Given the description of an element on the screen output the (x, y) to click on. 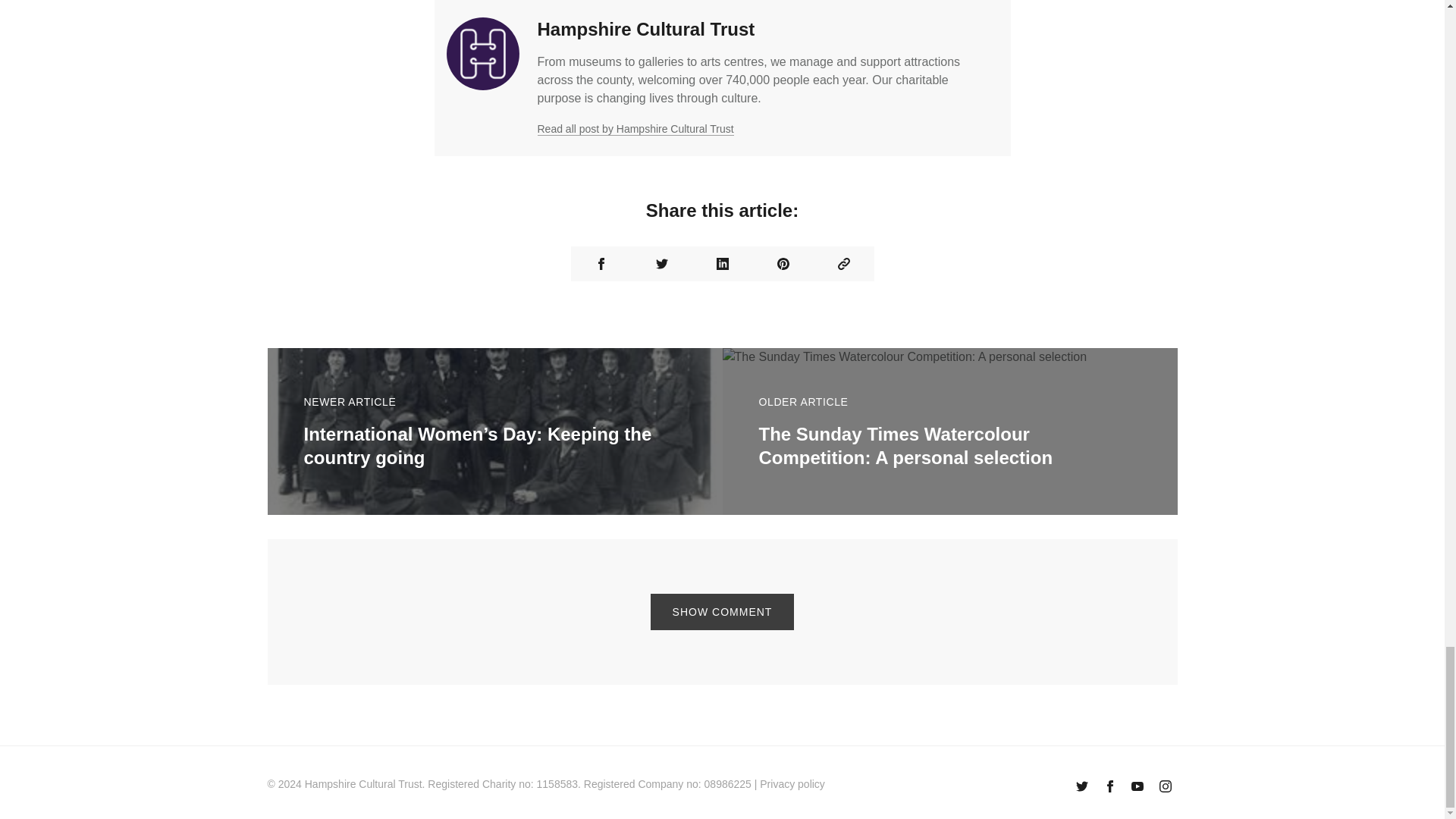
Hampshire Cultural Trust (363, 784)
Share on Pinterest (782, 263)
Copy the permalink (842, 263)
Hampshire Cultural Trust (645, 28)
SHOW COMMENT (722, 611)
Privacy policy (792, 784)
Share on Facebook (600, 263)
Share on Linkedin (721, 263)
Share on Twitter (660, 263)
